Given the description of an element on the screen output the (x, y) to click on. 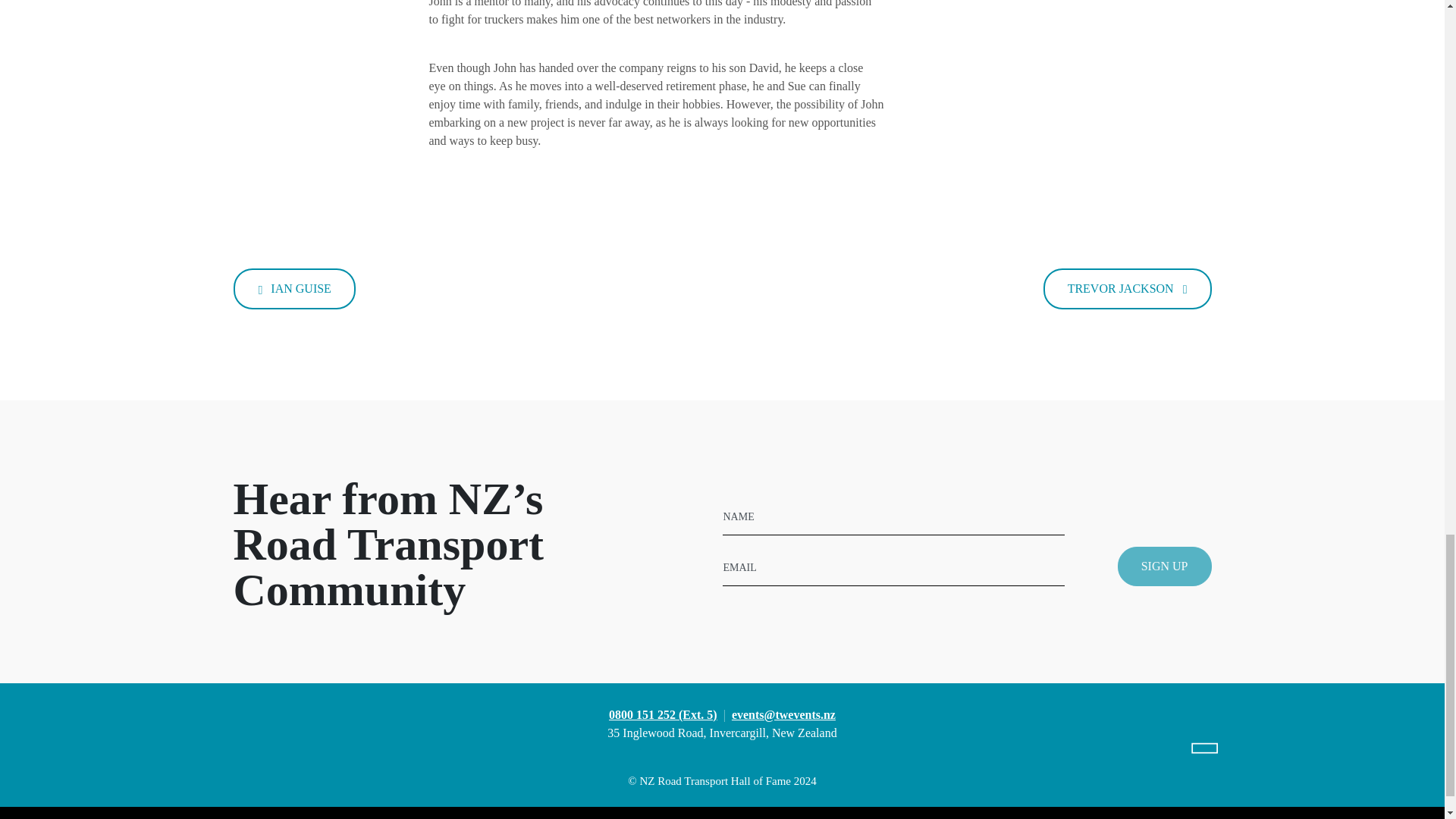
IAN GUISE (293, 288)
TREVOR JACKSON (1127, 288)
SIGN UP (1164, 566)
